Given the description of an element on the screen output the (x, y) to click on. 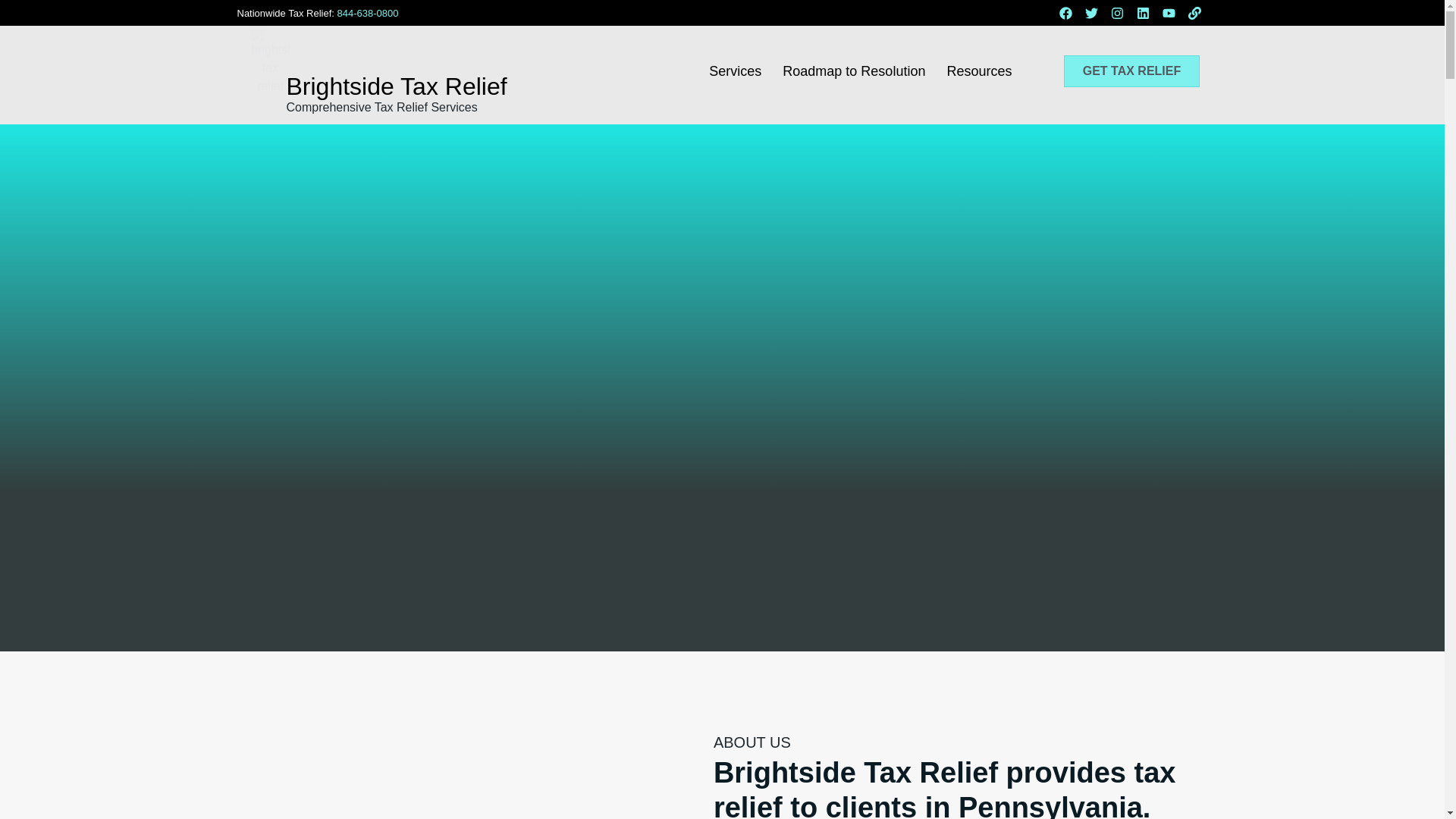
Brightside Tax Relief (395, 85)
Roadmap to Resolution (853, 71)
Resources (979, 71)
Nationwide Tax Relief: 844-638-0800 (316, 12)
Services (734, 71)
